Given the description of an element on the screen output the (x, y) to click on. 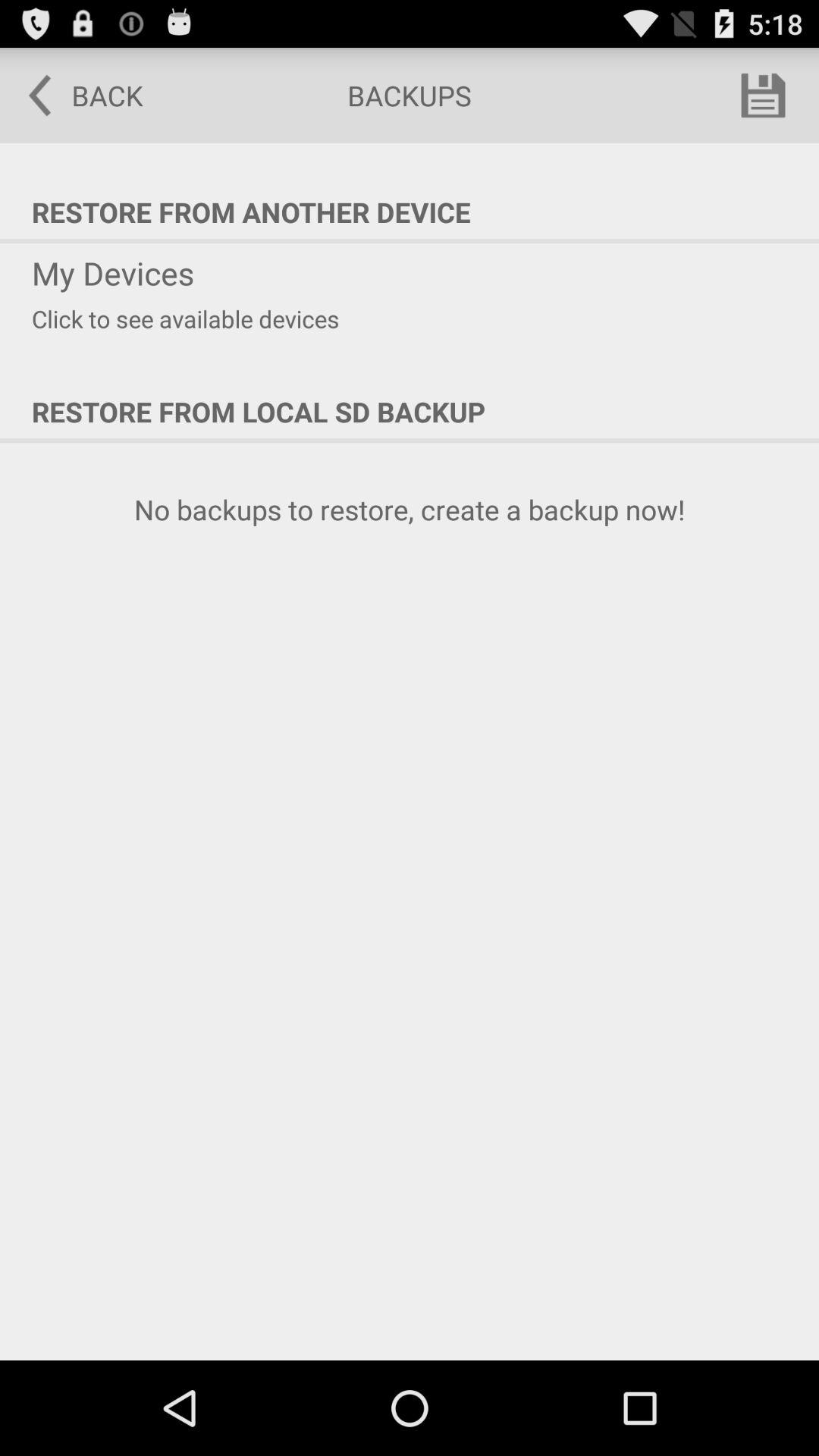
open back (75, 95)
